Given the description of an element on the screen output the (x, y) to click on. 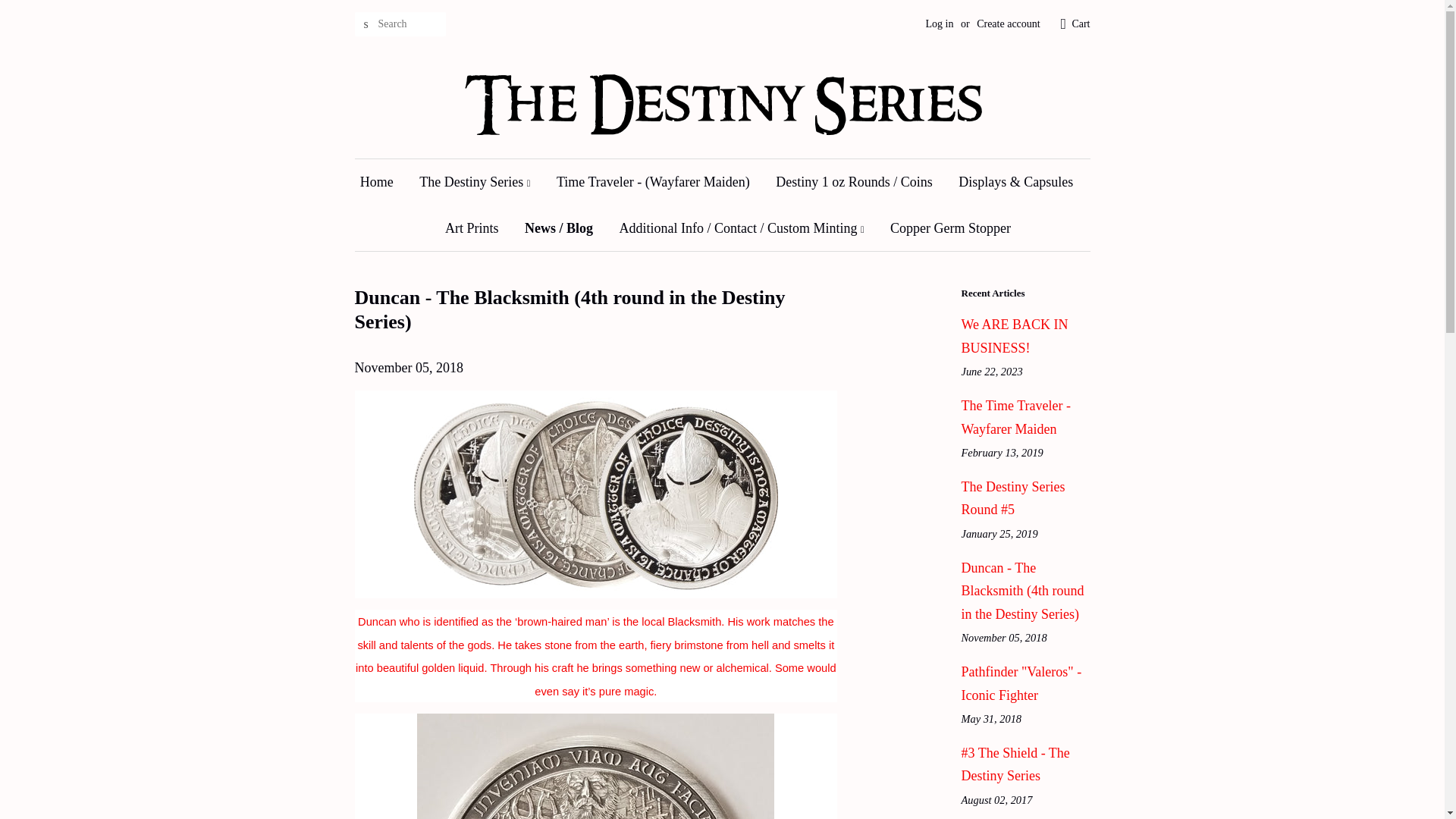
The Destiny Series (474, 181)
Search (366, 24)
Create account (1008, 23)
Cart (1080, 24)
Log in (939, 23)
Home (381, 181)
